Given the description of an element on the screen output the (x, y) to click on. 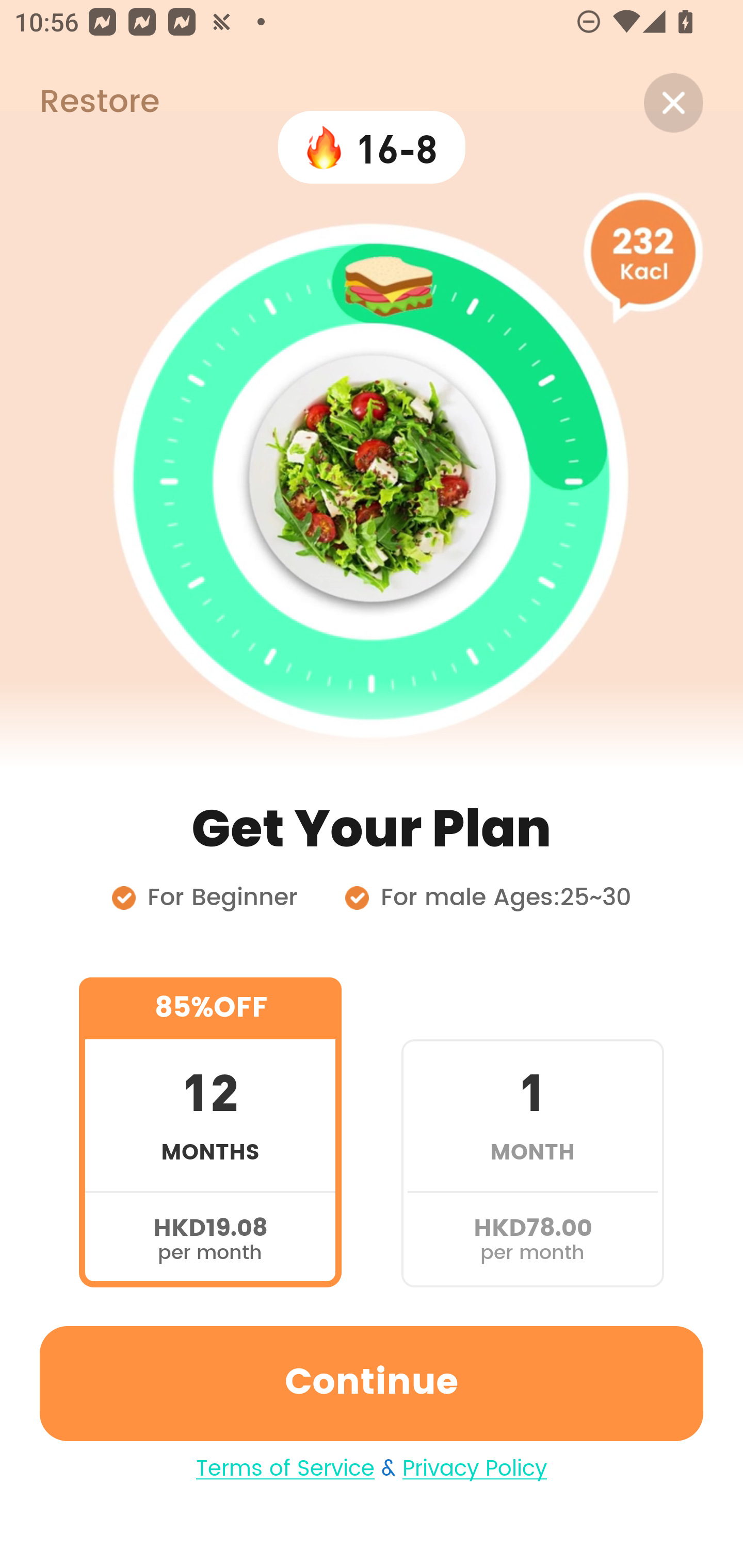
Restore (79, 102)
85%OFF 12 MONTHS per month HKD19.08 (209, 1131)
1 MONTH per month HKD78.00 (532, 1131)
Continue (371, 1383)
